Given the description of an element on the screen output the (x, y) to click on. 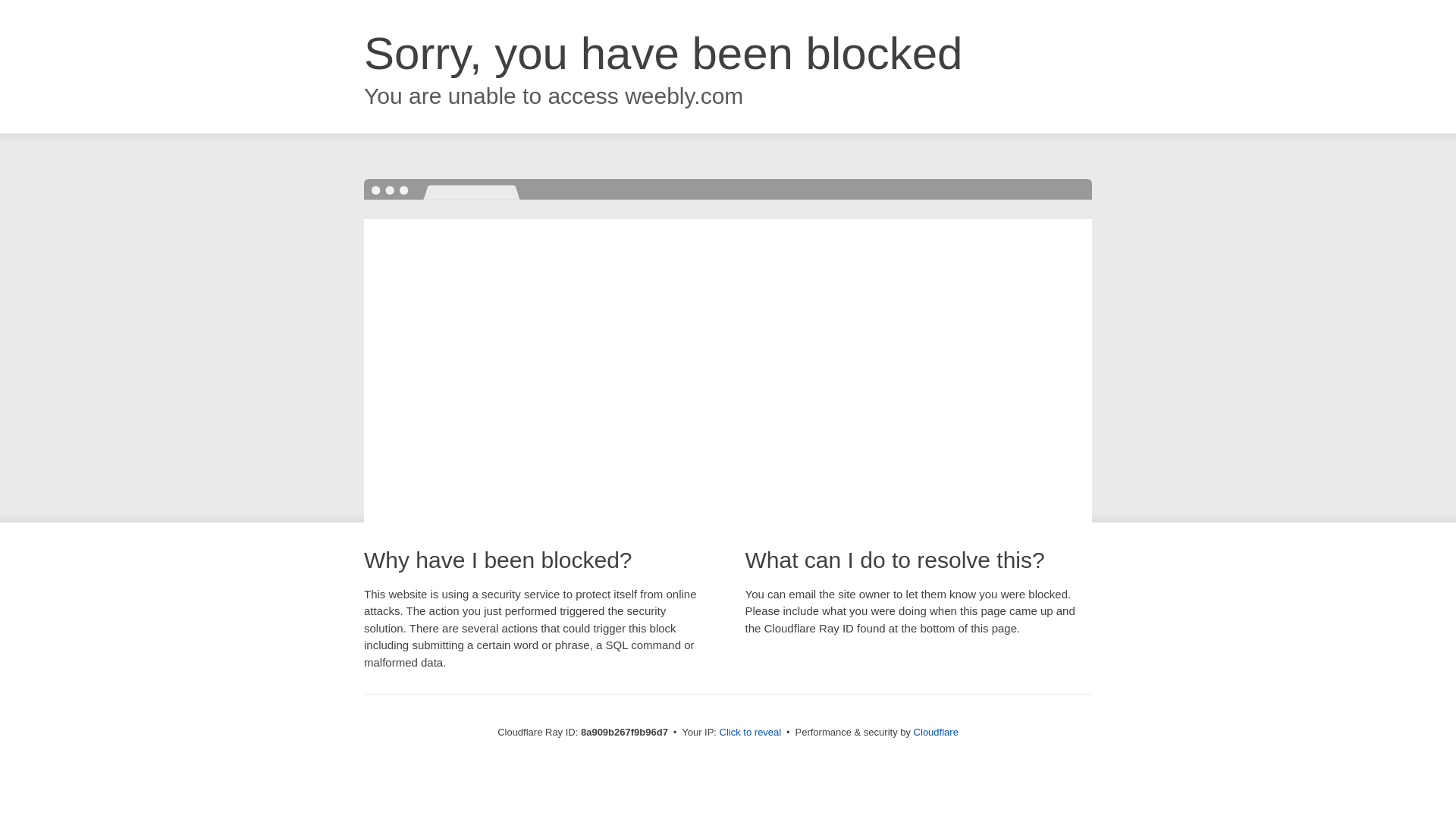
Cloudflare (936, 731)
Click to reveal (750, 732)
